Given the description of an element on the screen output the (x, y) to click on. 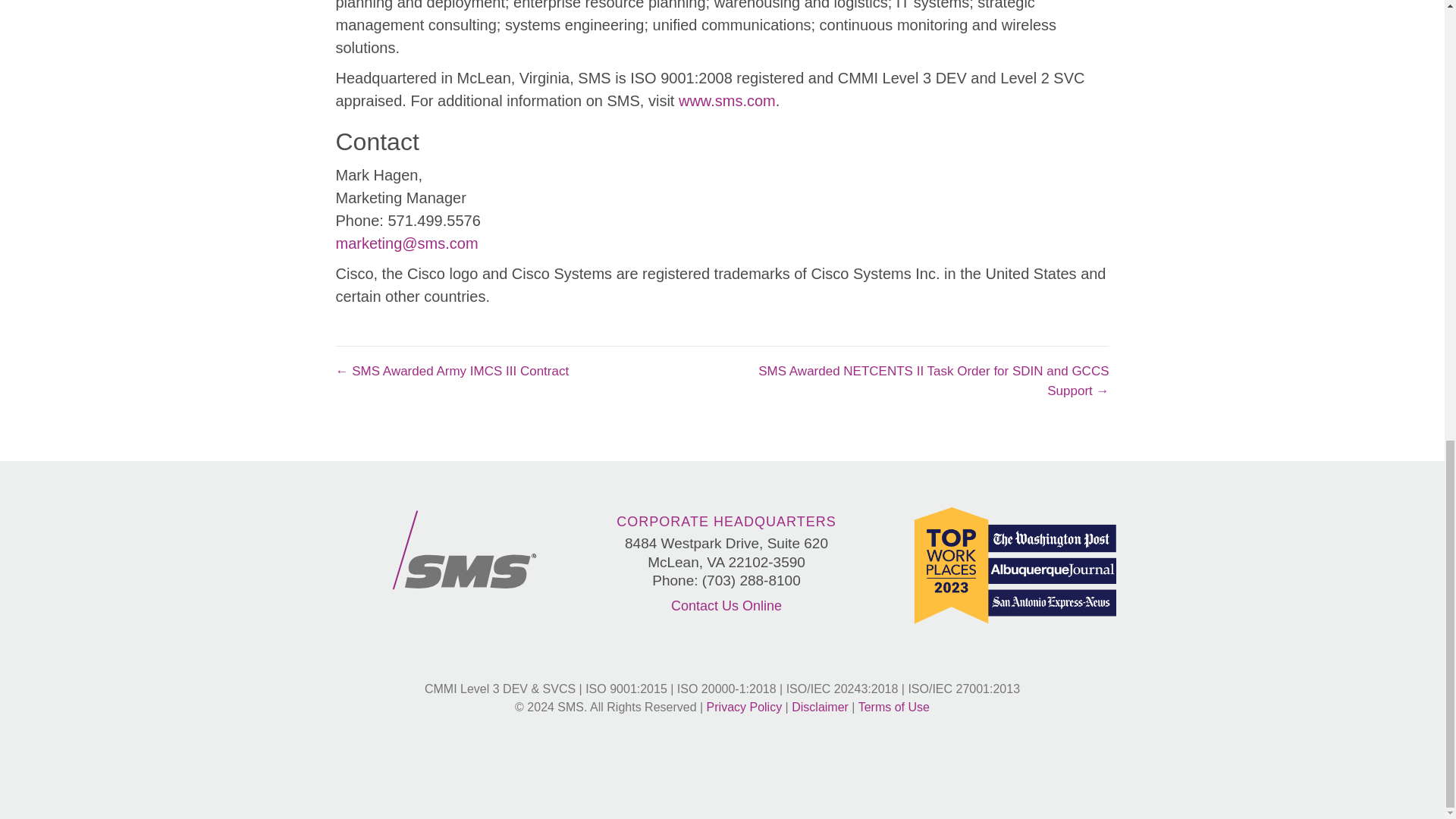
www.sms.com (727, 100)
Contact Us Online (726, 605)
TWP 2023 x3 (1014, 565)
Corporate Headquarters (725, 521)
